Given the description of an element on the screen output the (x, y) to click on. 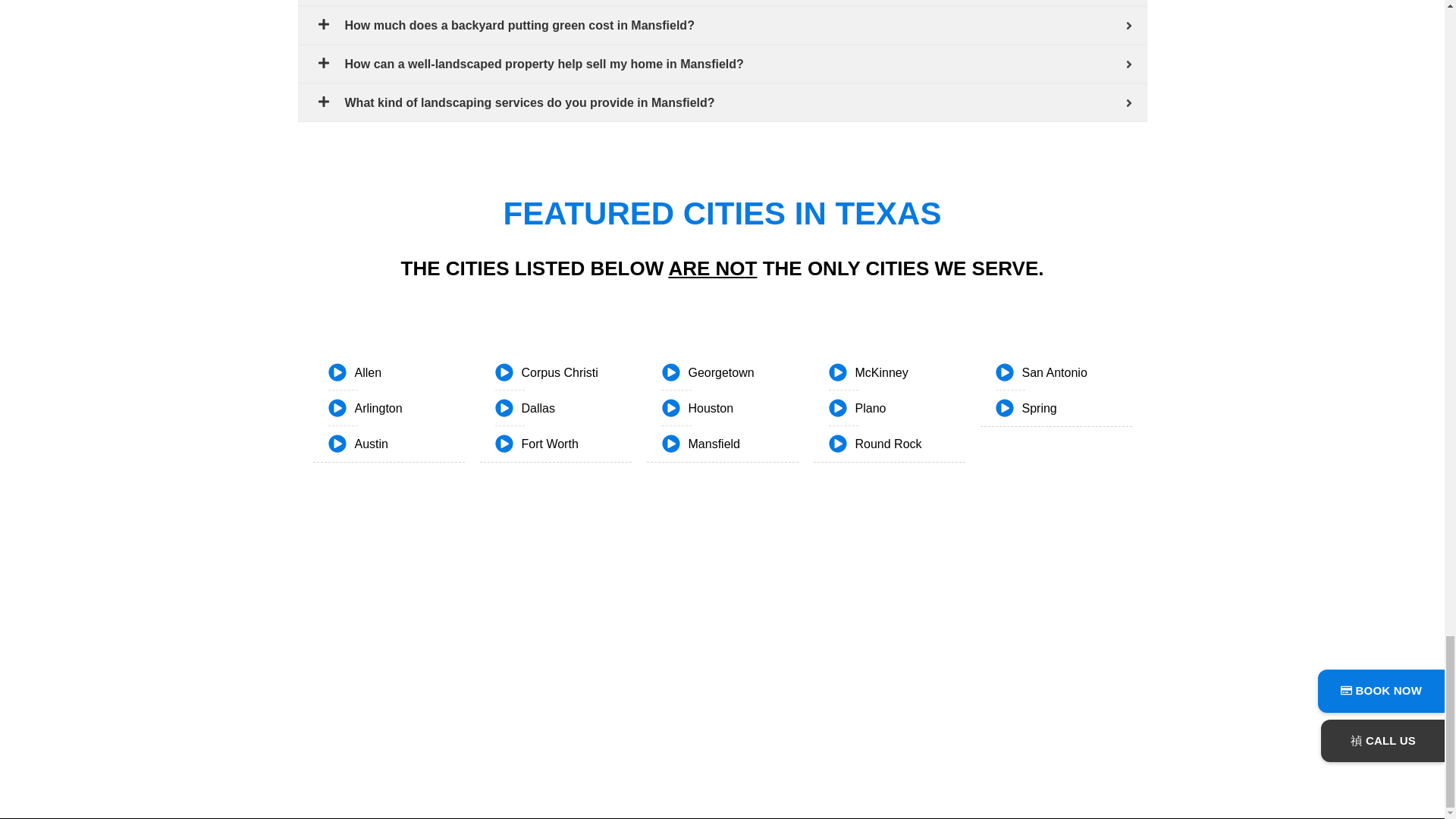
McKinney (895, 372)
Spring (1062, 408)
Georgetown (729, 372)
San Antonio (1062, 372)
Plano (895, 408)
Mansfield (729, 444)
Allen (395, 372)
Houston (729, 408)
Round Rock (895, 444)
